Given the description of an element on the screen output the (x, y) to click on. 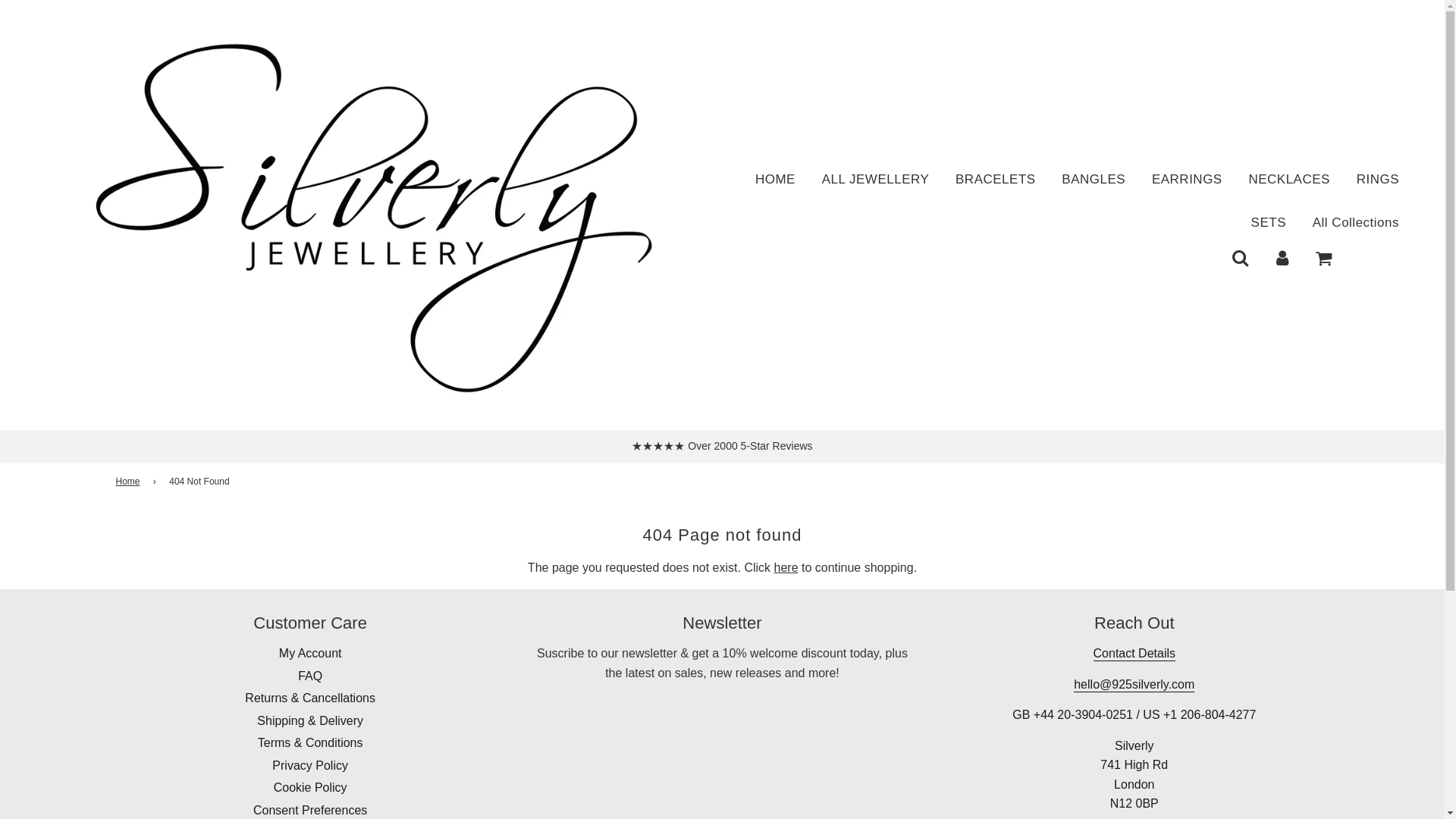
Privacy Policy (309, 765)
Consent Preferences (309, 809)
NECKLACES (1288, 179)
HOME (775, 179)
Contact Us (1134, 653)
ALL JEWELLERY (875, 179)
Back to the frontpage (129, 481)
here (785, 567)
SETS (1268, 222)
My Account (310, 653)
